Given the description of an element on the screen output the (x, y) to click on. 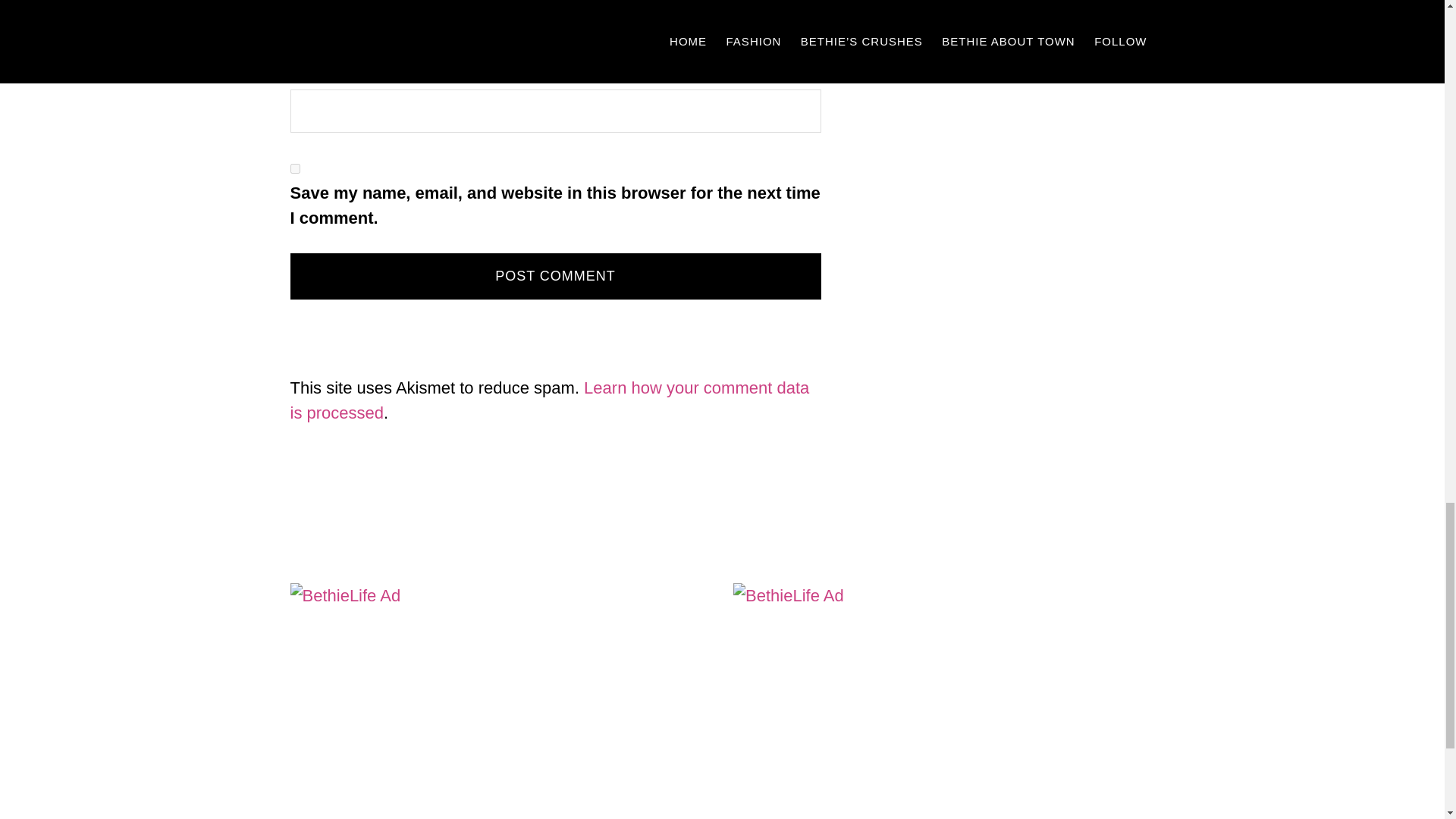
yes (294, 168)
Learn how your comment data is processed (549, 400)
Post Comment (555, 276)
Post Comment (555, 276)
